Given the description of an element on the screen output the (x, y) to click on. 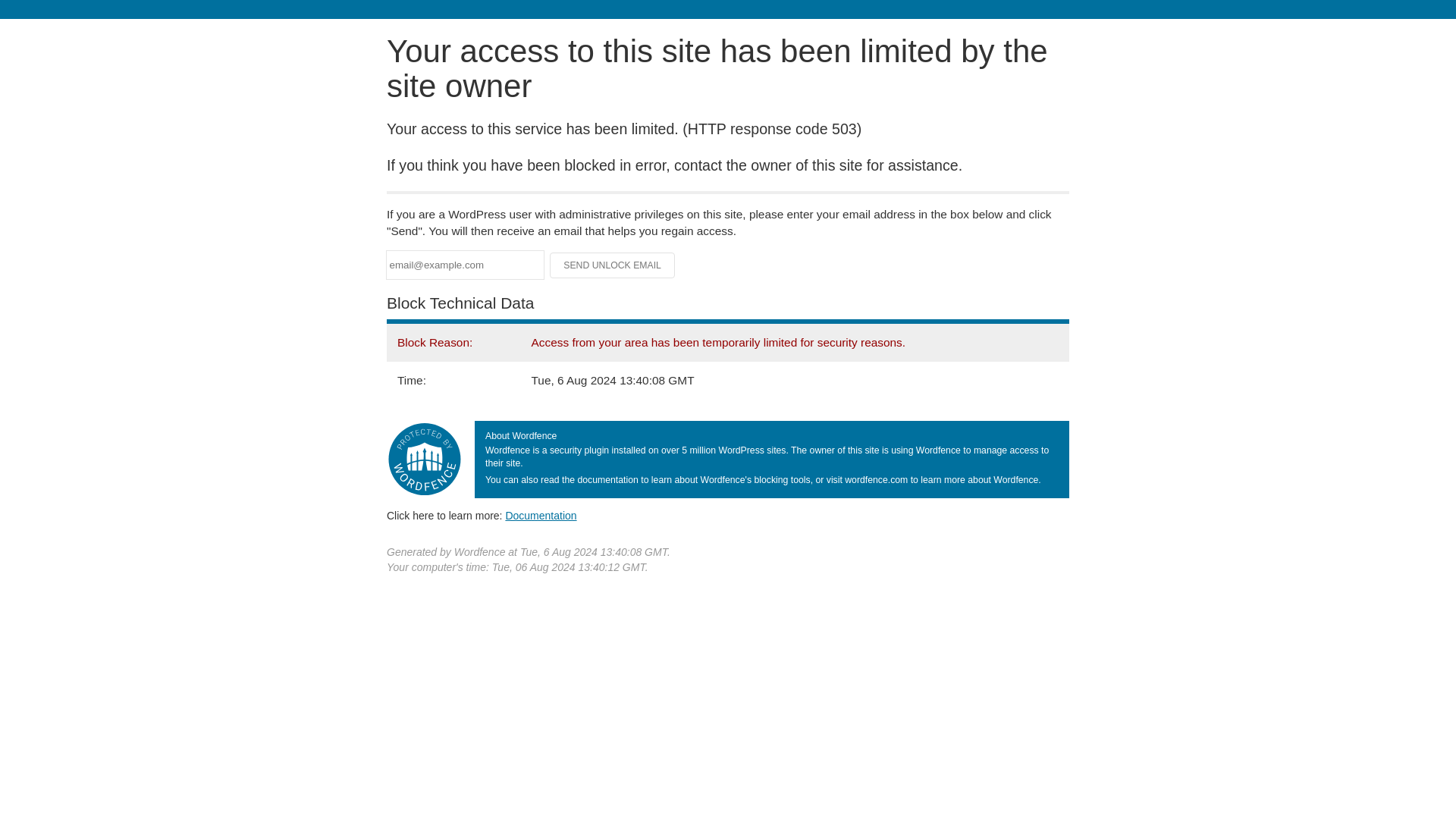
Documentation (540, 515)
Send Unlock Email (612, 265)
Send Unlock Email (612, 265)
